Given the description of an element on the screen output the (x, y) to click on. 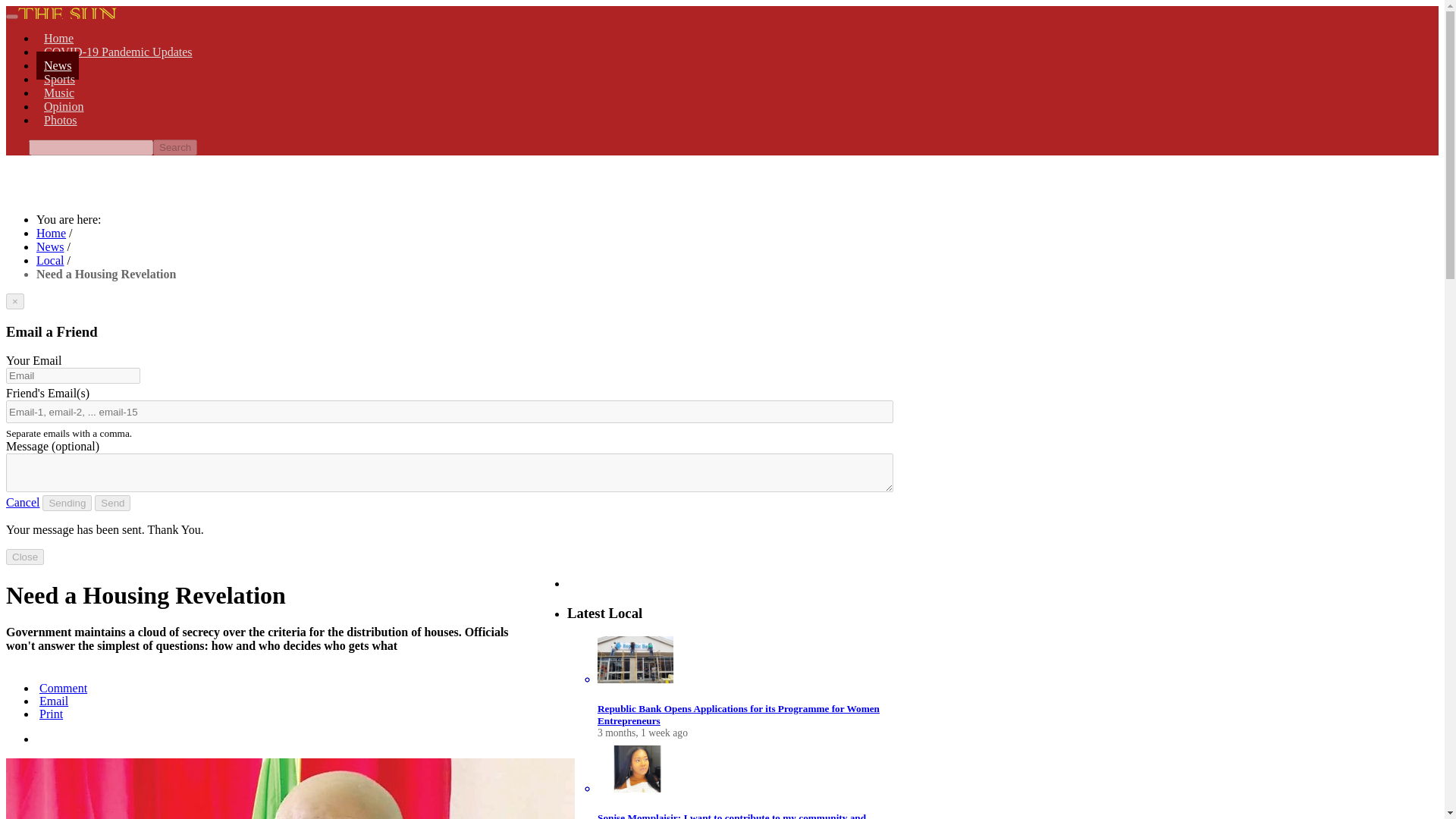
Opinion (63, 106)
Local (50, 259)
Home (50, 232)
News (57, 65)
Print (49, 713)
Send (112, 503)
Sports (59, 79)
Cancel (22, 502)
News (50, 246)
Close (24, 556)
Home (58, 38)
Search (174, 147)
Comment (61, 687)
